Given the description of an element on the screen output the (x, y) to click on. 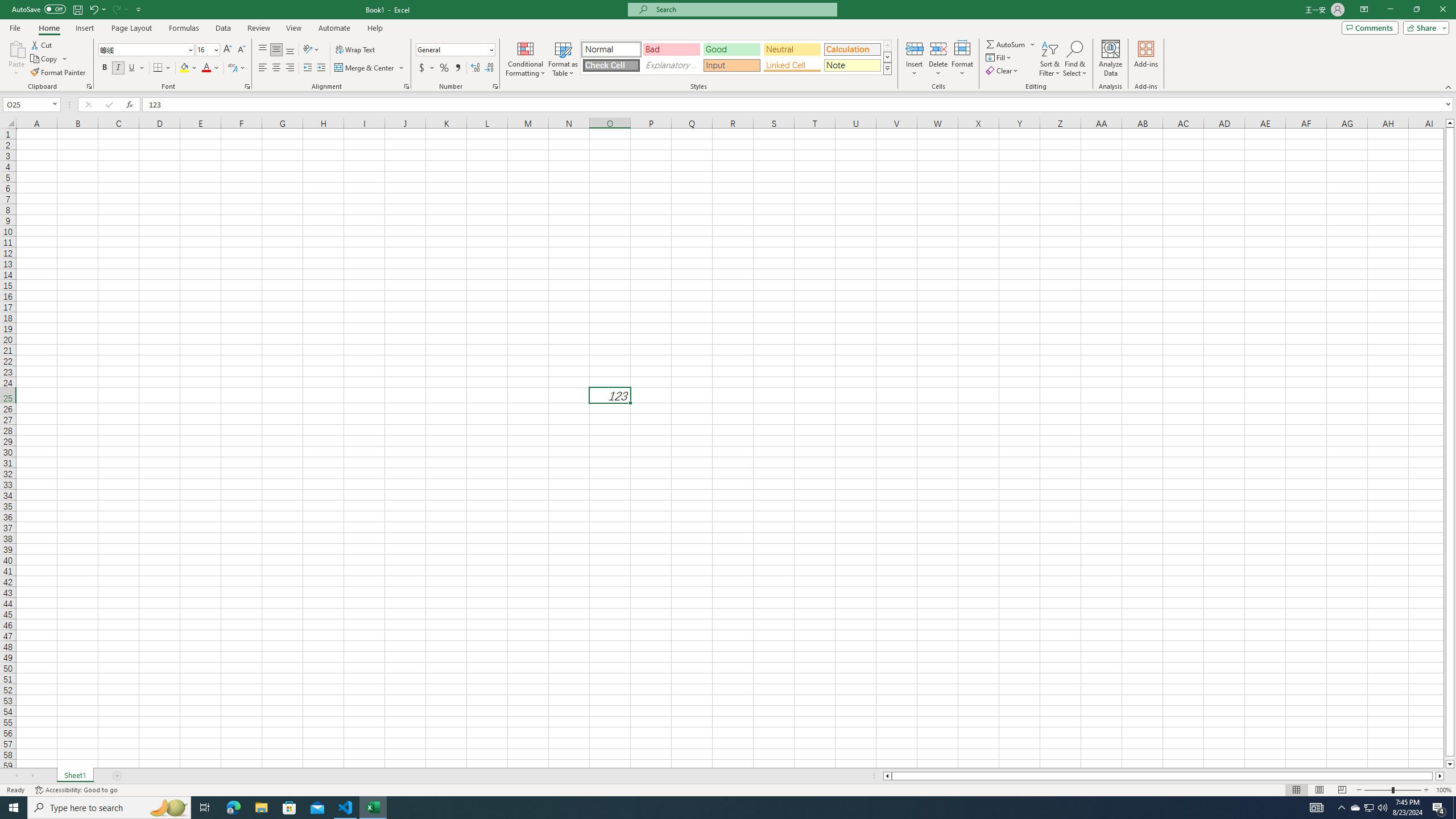
Microsoft search (742, 9)
Comma Style (457, 67)
Good (731, 49)
Normal (1296, 790)
Column right (1440, 775)
Quick Access Toolbar (77, 9)
Format (962, 58)
Collapse the Ribbon (1448, 86)
Fill (999, 56)
Decrease Indent (307, 67)
Fill Color RGB(255, 255, 0) (183, 67)
Sheet1 (74, 775)
Fill Color (188, 67)
Calculation (852, 49)
